Given the description of an element on the screen output the (x, y) to click on. 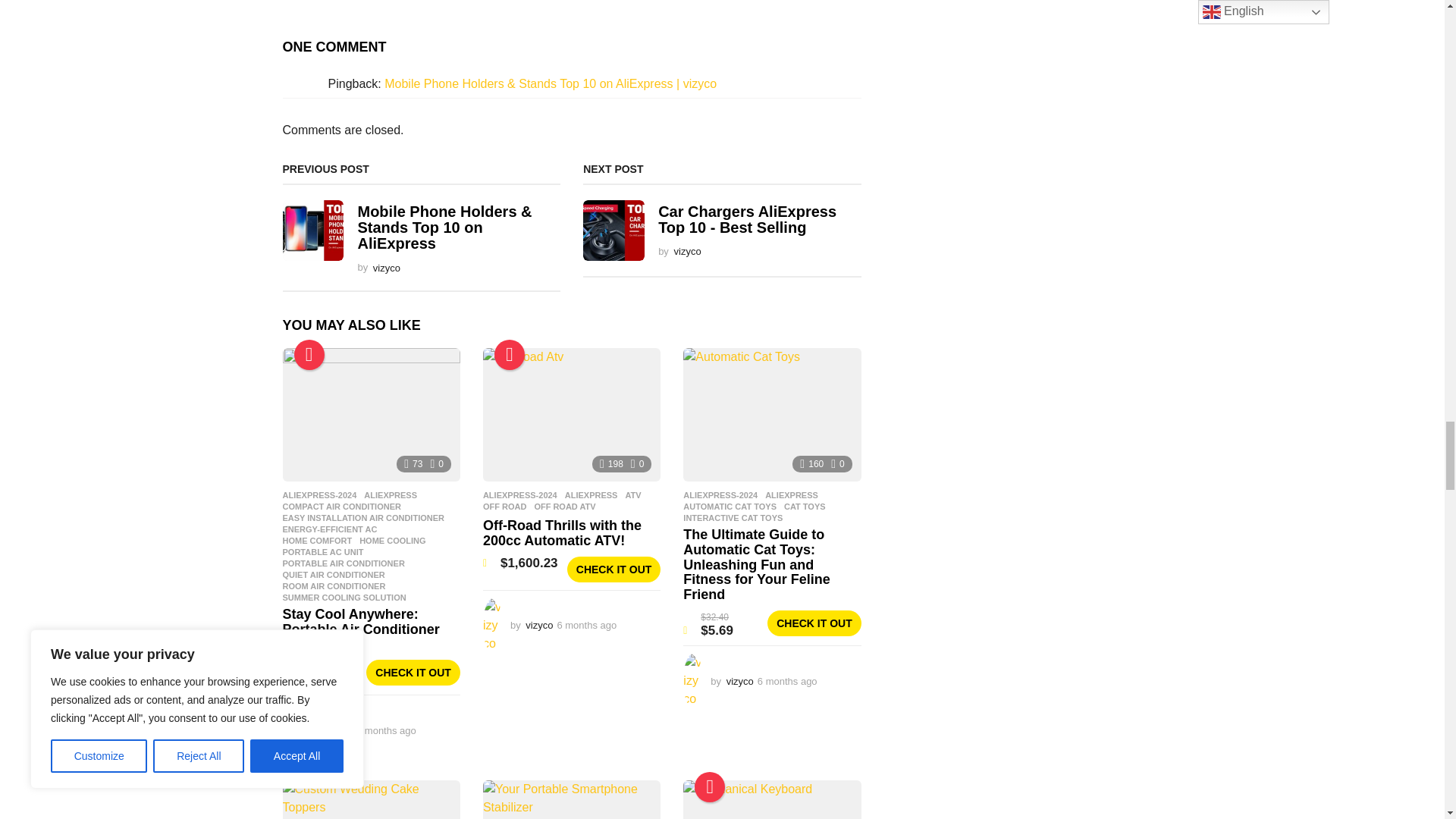
Popular (309, 354)
Off-Road Thrills with the 200cc Automatic ATV! (572, 414)
Stay Cool Anywhere: Portable Air Conditioner for Home (371, 414)
Your Portable Smartphone Stabilizer (572, 799)
Elevate Your Special Day with Custom Wedding Cake Toppers (371, 799)
Experience with the Mechanical Keyboard (771, 799)
Hot (509, 354)
Popular (709, 787)
